Given the description of an element on the screen output the (x, y) to click on. 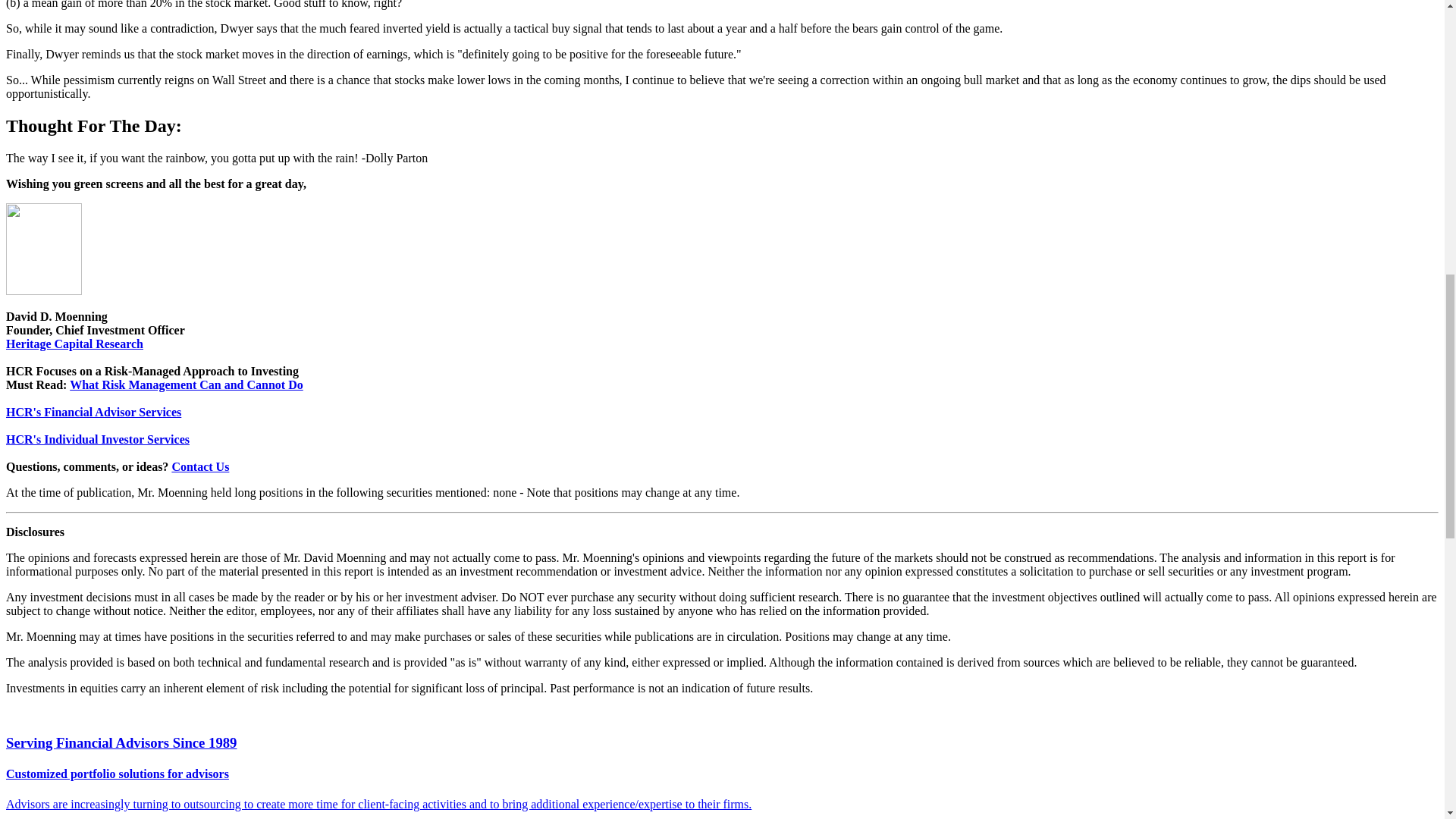
HCR's Financial Advisor Services (92, 410)
What Risk Management Can and Cannot Do (185, 383)
HCR's Individual Investor Services (97, 438)
Heritage Capital Research (73, 342)
Contact Us (199, 465)
